Given the description of an element on the screen output the (x, y) to click on. 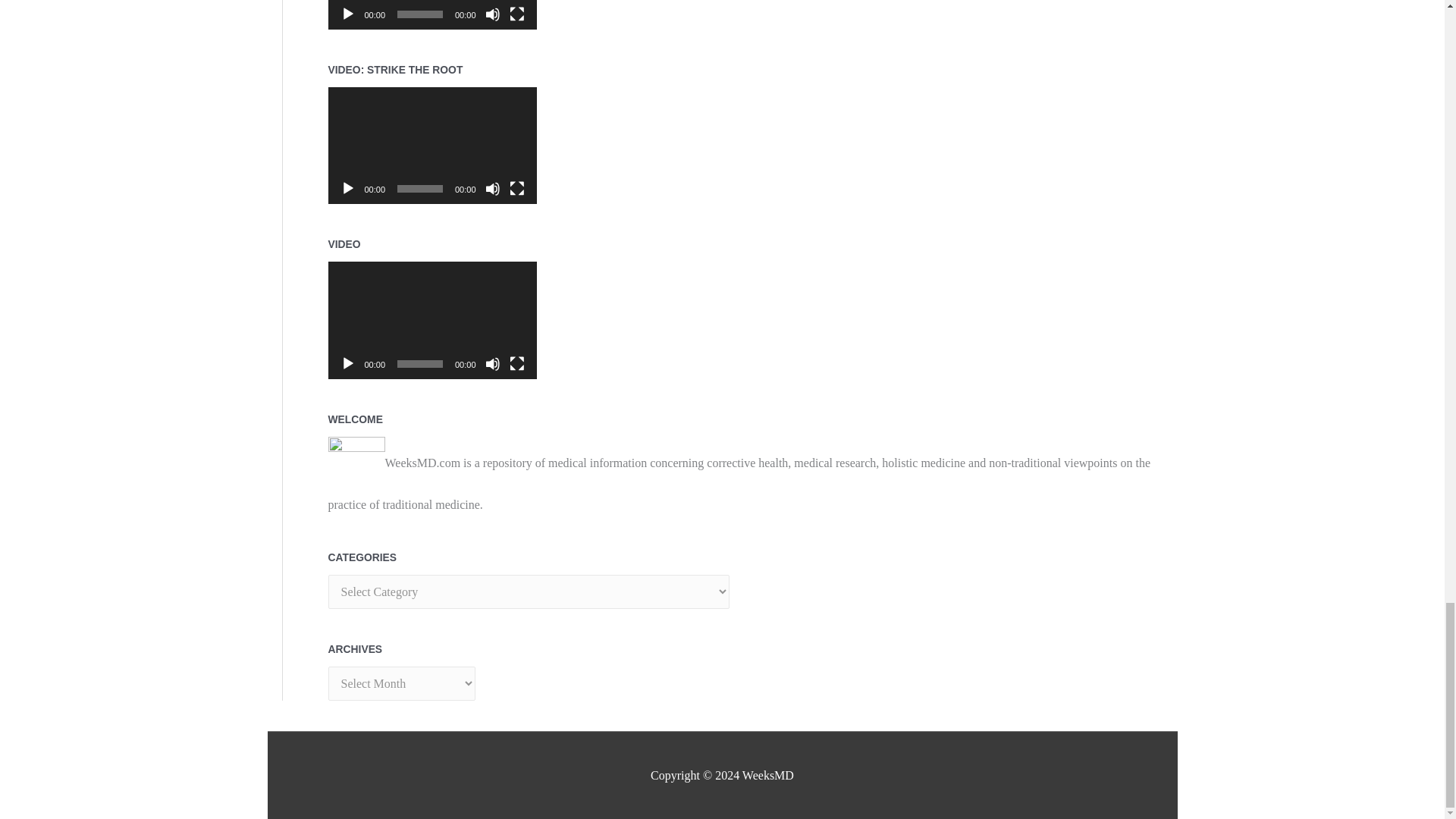
Play (347, 188)
Mute (492, 363)
Fullscreen (516, 14)
Play (347, 14)
Fullscreen (516, 363)
Mute (492, 14)
Fullscreen (516, 188)
Play (347, 363)
Mute (492, 188)
